Given the description of an element on the screen output the (x, y) to click on. 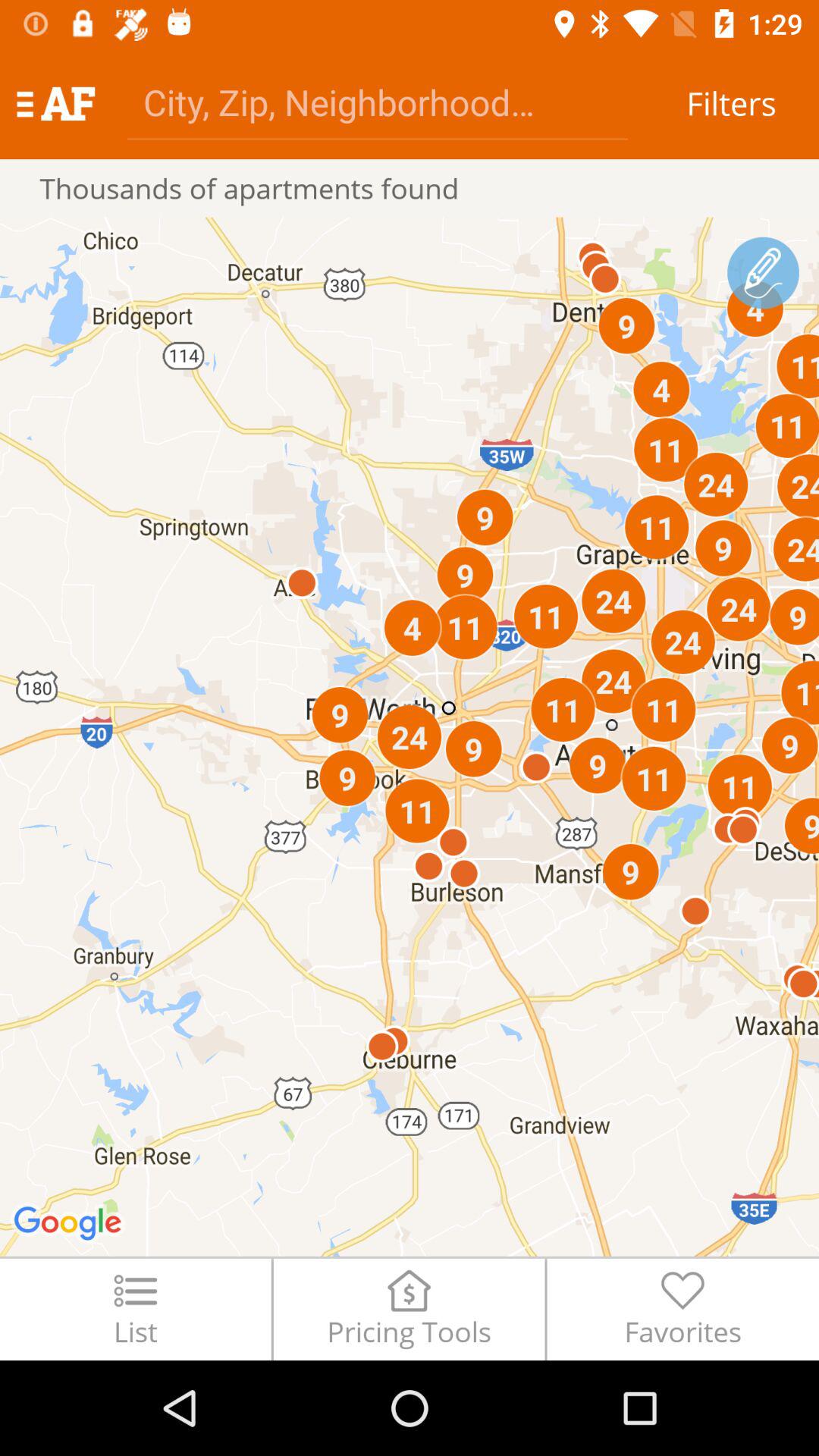
draw path (763, 272)
